Given the description of an element on the screen output the (x, y) to click on. 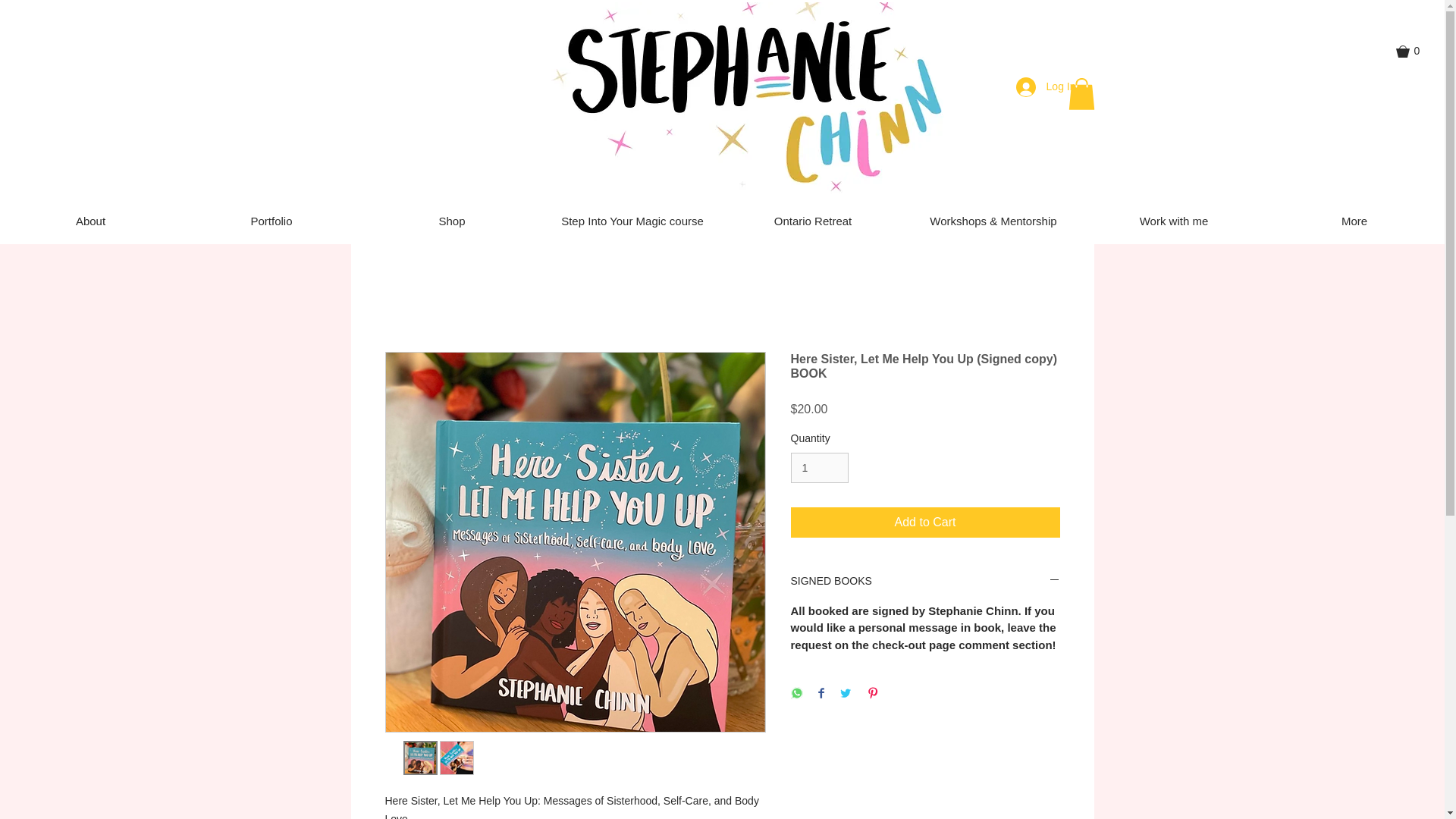
Log In (1046, 86)
Shop (451, 221)
About (90, 221)
Step Into Your Magic course (631, 221)
Portfolio (270, 221)
1 (818, 468)
Add to Cart (924, 521)
Work with me (1173, 221)
SIGNED BOOKS (924, 581)
Ontario Retreat (812, 221)
